Given the description of an element on the screen output the (x, y) to click on. 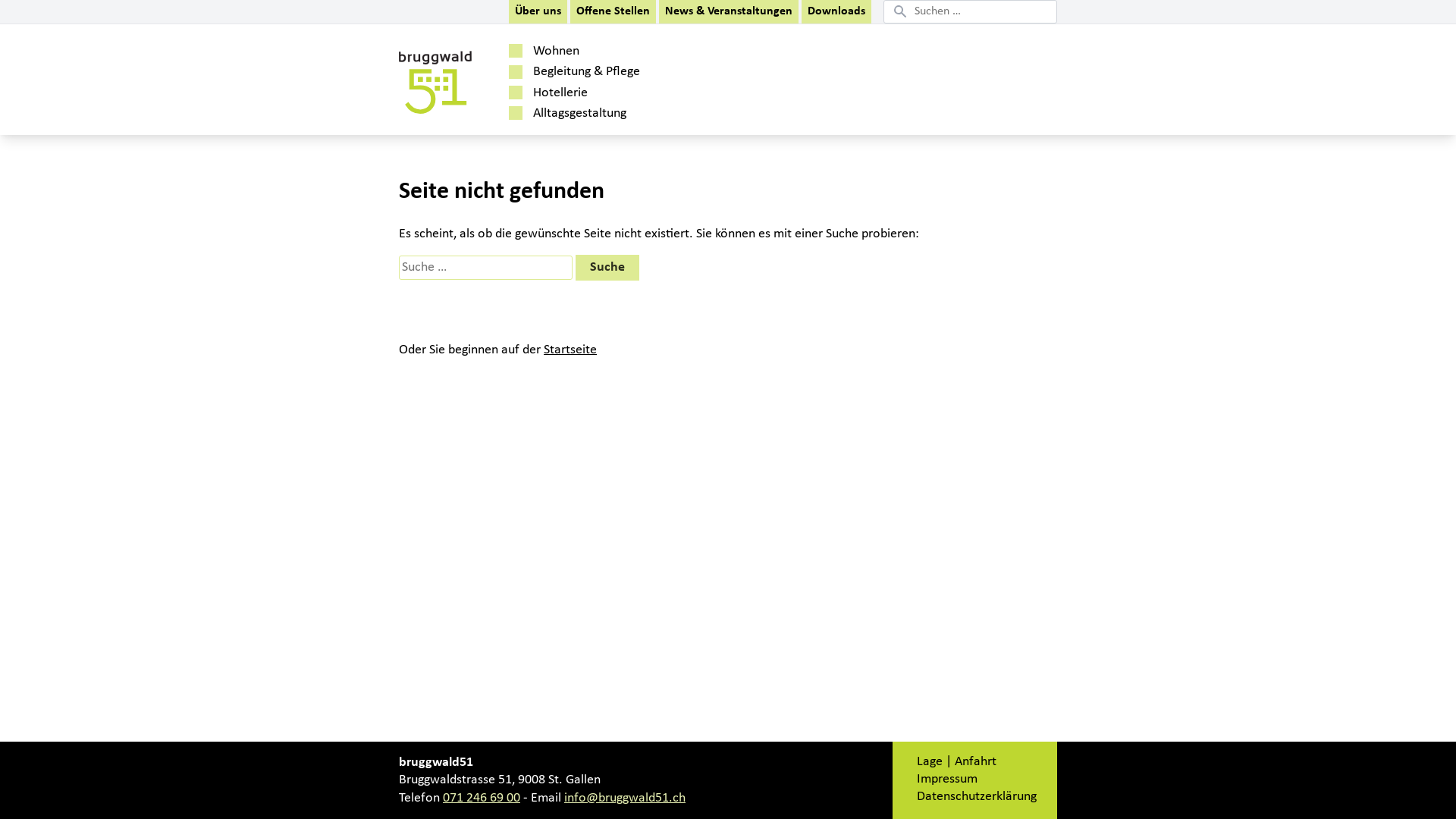
Wohnen Element type: text (658, 50)
Lage | Anfahrt Element type: text (956, 761)
info@bruggwald51.ch Element type: text (624, 797)
Suche Element type: text (607, 267)
071 246 69 00 Element type: text (481, 797)
Alltagsgestaltung Element type: text (658, 113)
Begleitung & Pflege Element type: text (658, 71)
Hotellerie Element type: text (658, 92)
Startseite Element type: text (569, 349)
Impressum Element type: text (946, 778)
Suchen Element type: text (35, 12)
